Given the description of an element on the screen output the (x, y) to click on. 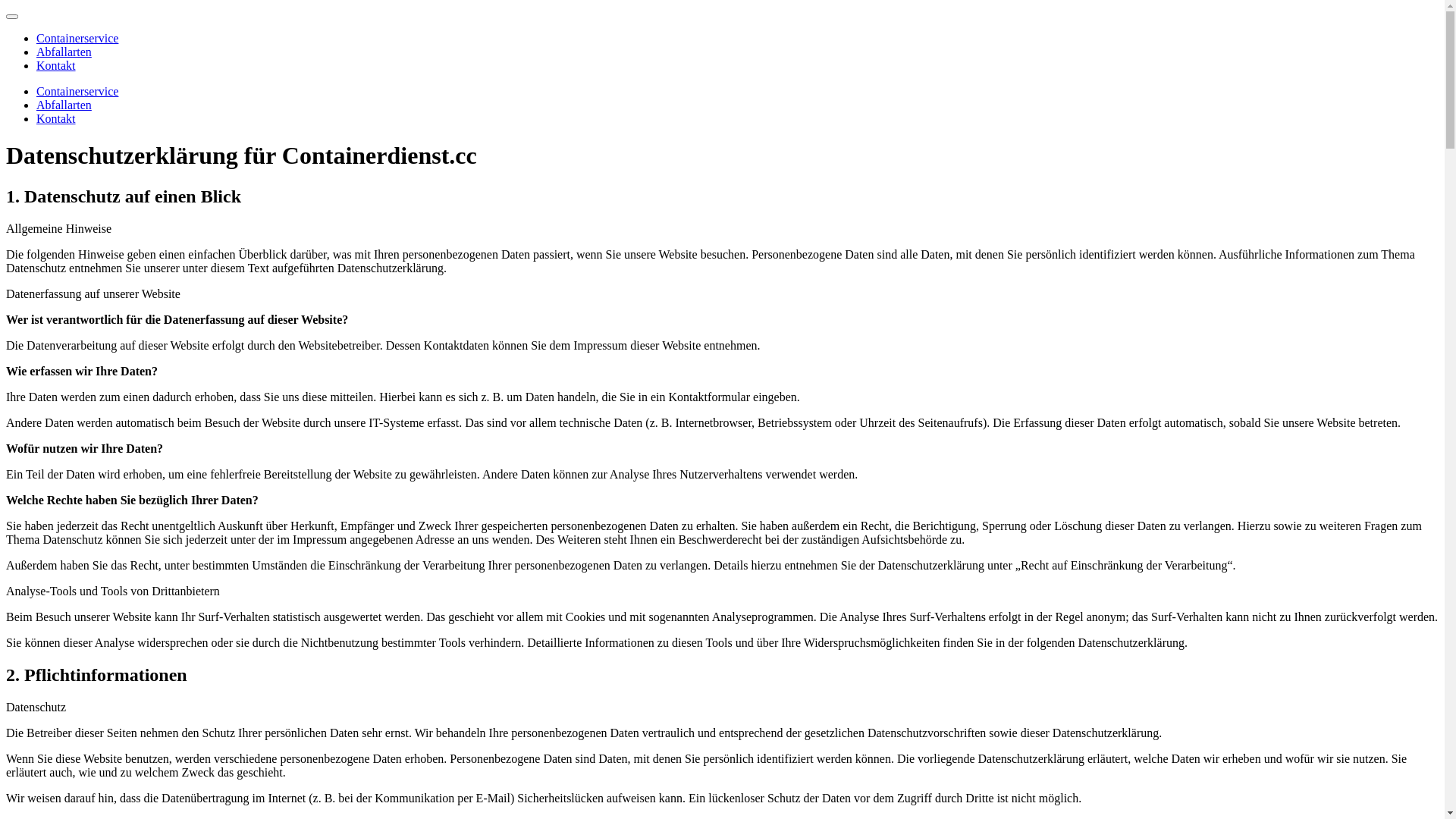
Abfallarten Element type: text (63, 51)
Abfallarten Element type: text (63, 104)
Kontakt Element type: text (55, 118)
Containerservice Element type: text (77, 37)
Containerservice Element type: text (77, 90)
Kontakt Element type: text (55, 65)
